Given the description of an element on the screen output the (x, y) to click on. 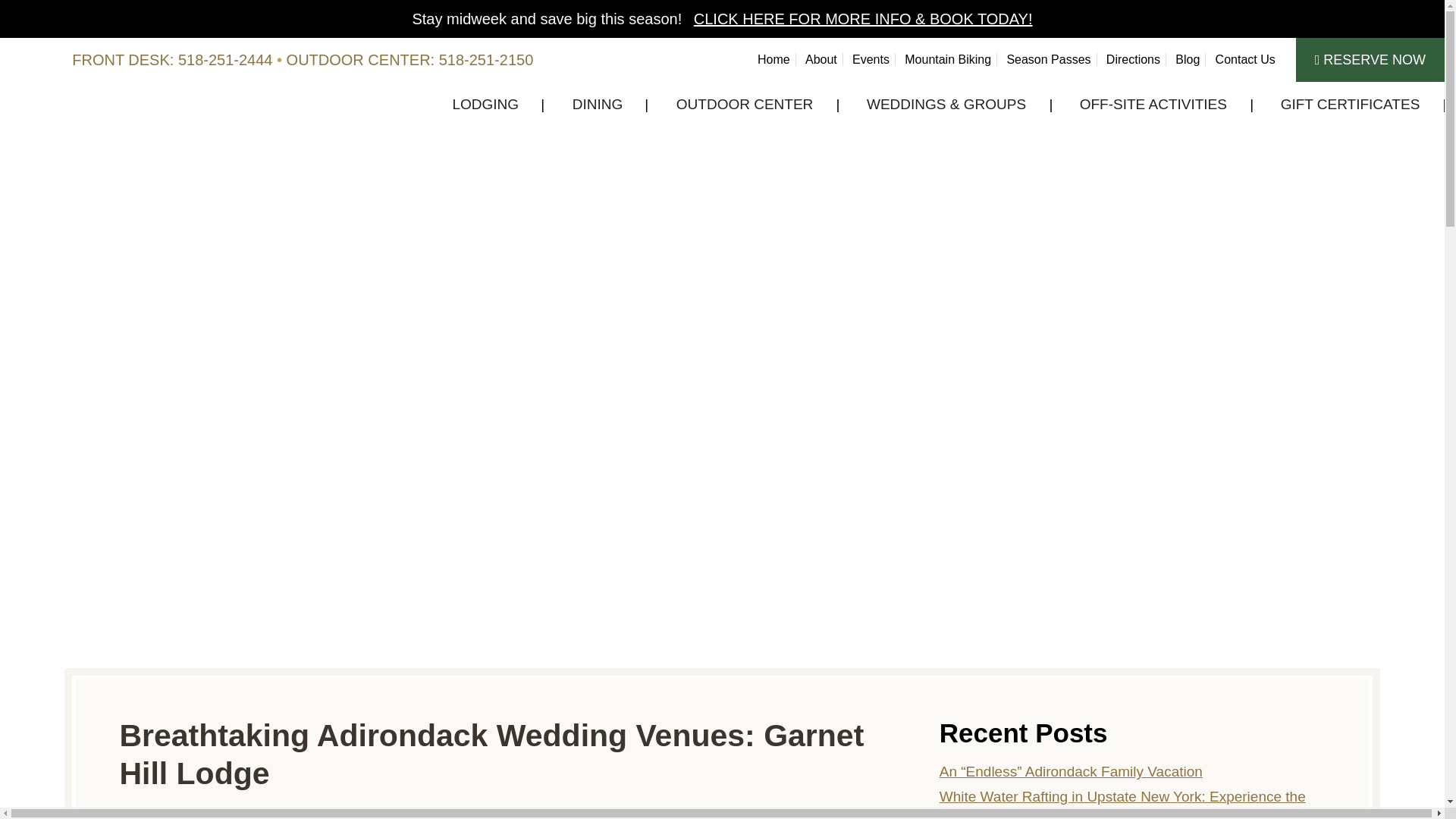
DINING (597, 103)
FRONT DESK: 518-251-2444 (171, 59)
OUTDOOR CENTER (744, 103)
RESERVE NOW (1369, 59)
Contact Us (1245, 59)
OUTDOOR CENTER: 518-251-2150 (410, 59)
About (821, 59)
LODGING (485, 103)
Mountain Biking (948, 59)
Season Passes (1048, 59)
